Given the description of an element on the screen output the (x, y) to click on. 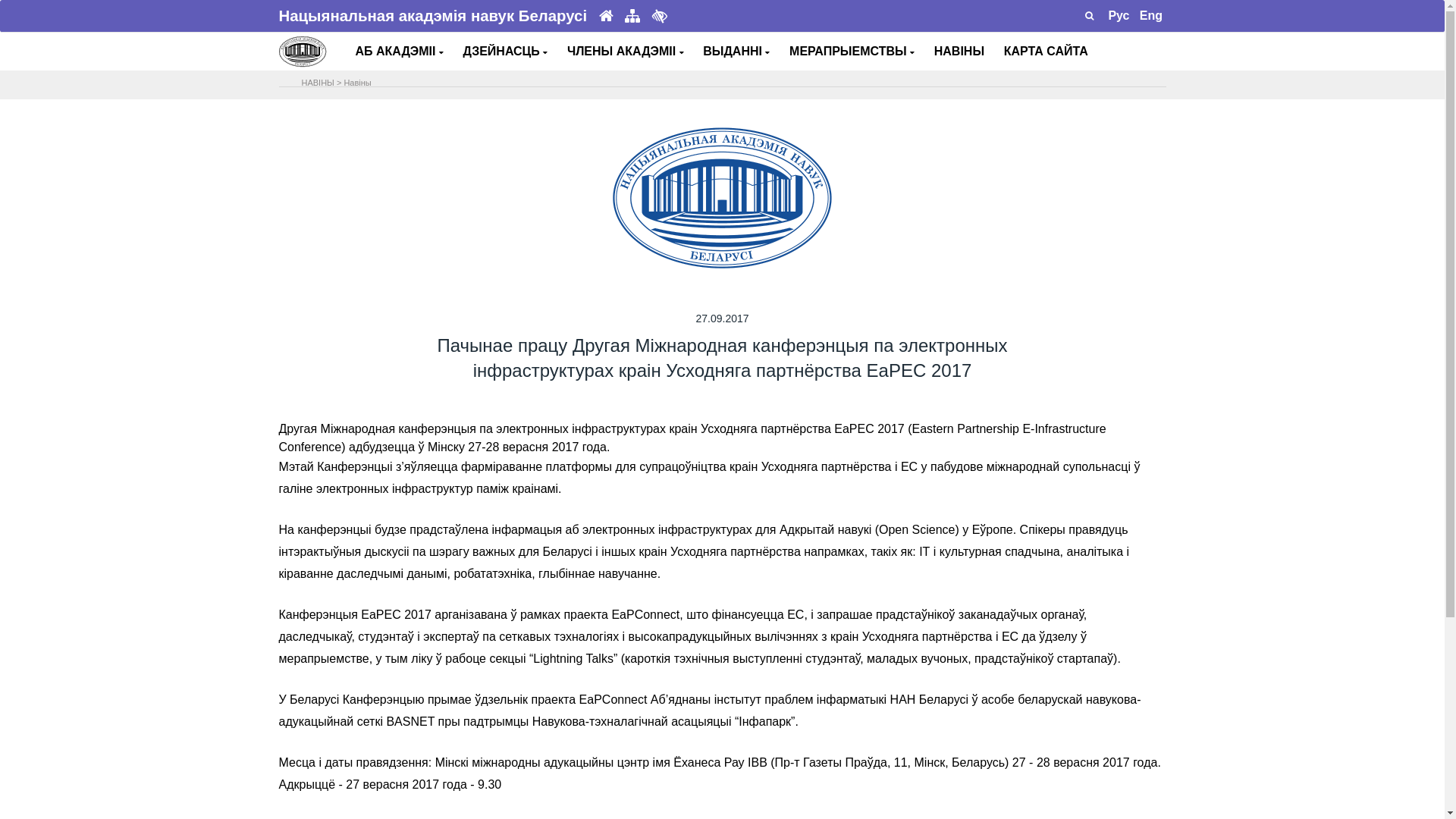
 Eng  Element type: text (1150, 15)
